Given the description of an element on the screen output the (x, y) to click on. 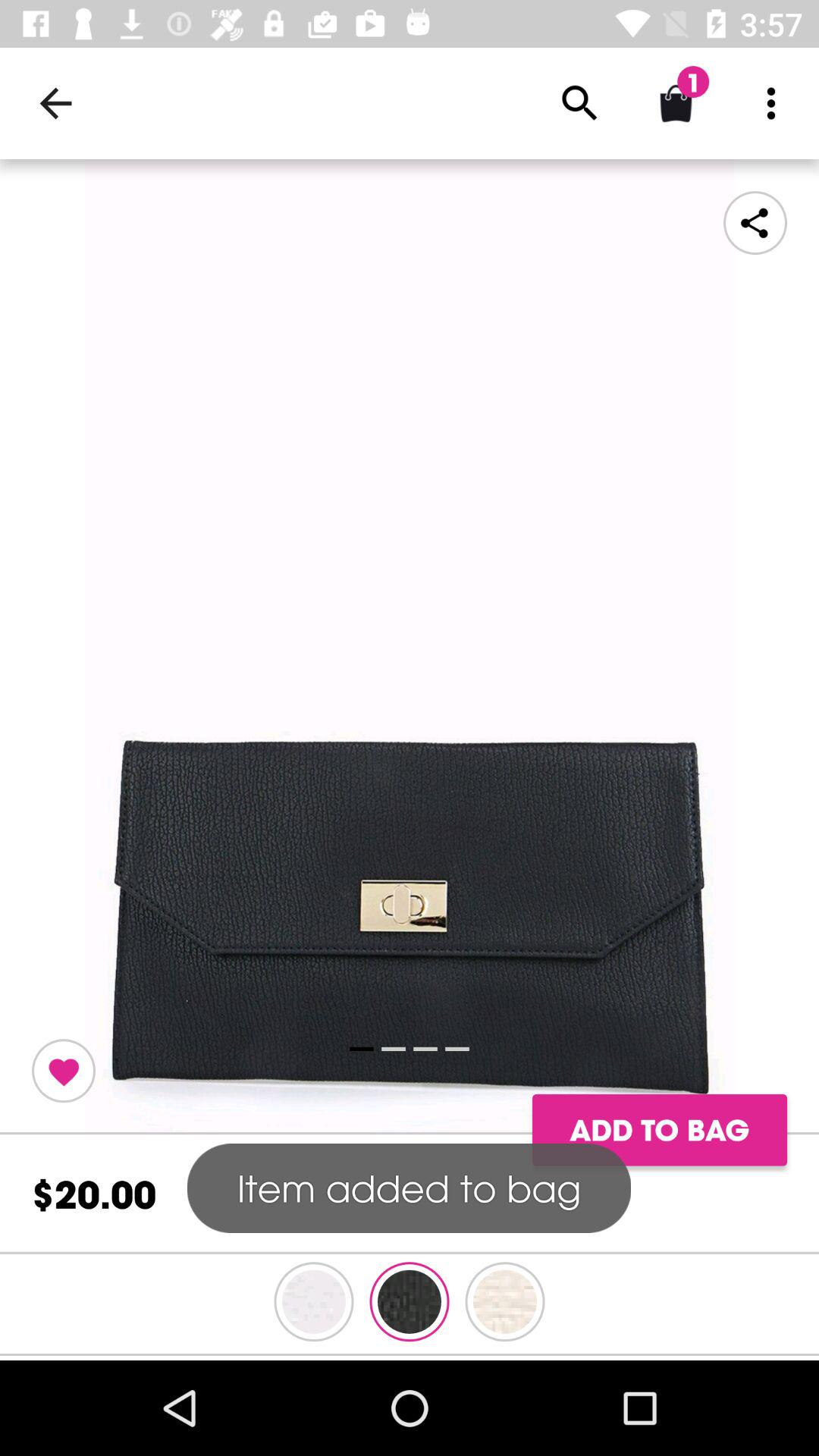
share to social media (755, 222)
